Given the description of an element on the screen output the (x, y) to click on. 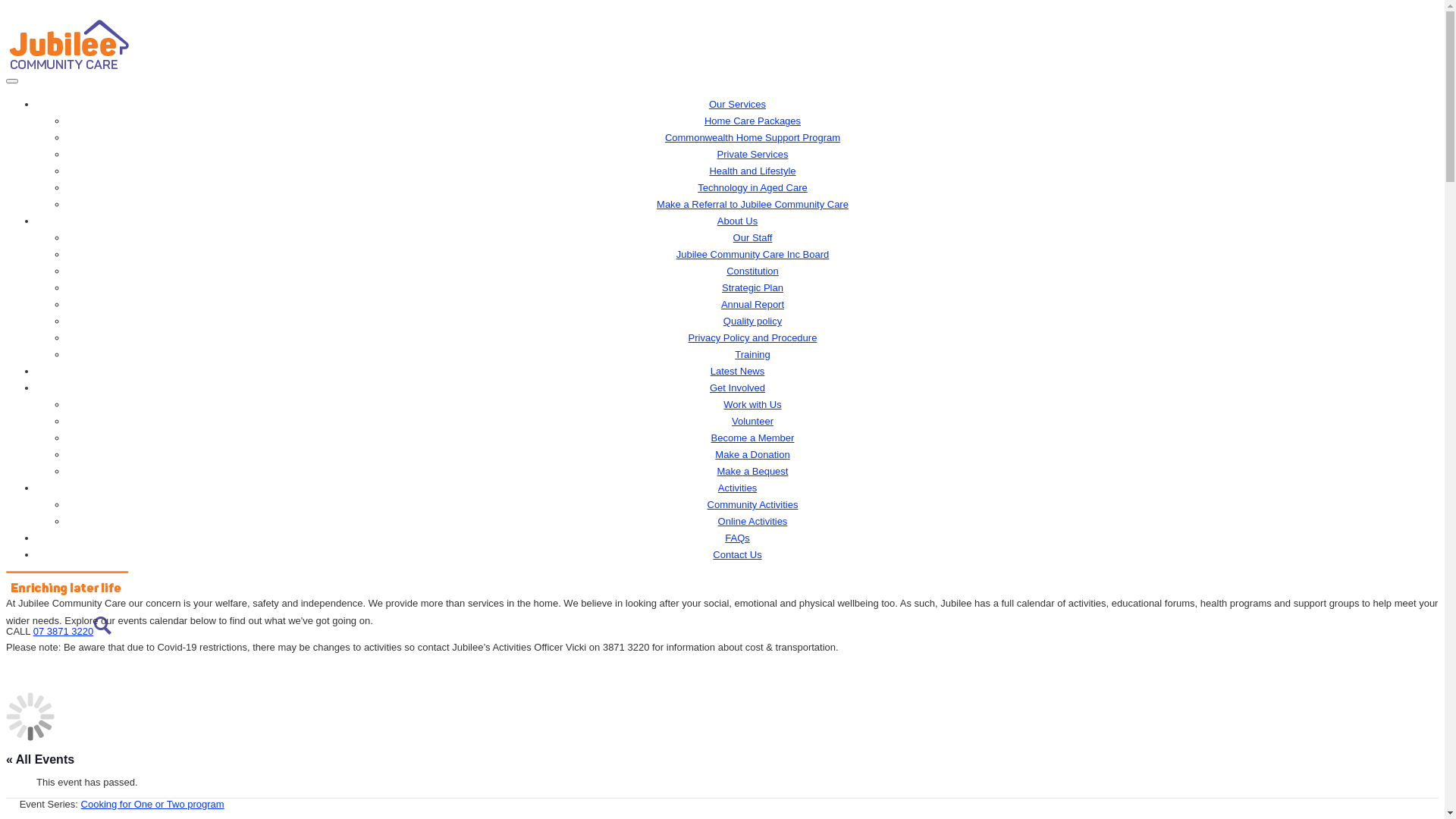
Make a Bequest Element type: text (752, 471)
Our Services Element type: text (737, 104)
Online Activities Element type: text (752, 521)
Commonwealth Home Support Program Element type: text (752, 137)
Latest News Element type: text (737, 371)
Health and Lifestyle Element type: text (752, 170)
Toggle navigation Element type: text (12, 80)
Annual Report Element type: text (752, 304)
Make a Donation Element type: text (751, 454)
Our Staff Element type: text (752, 237)
FAQs Element type: text (736, 538)
Constitution Element type: text (752, 270)
Get Involved Element type: text (737, 388)
Become a Member Element type: text (752, 437)
Cooking for One or Two program Element type: text (152, 803)
Privacy Policy and Procedure Element type: text (753, 337)
Community Activities Element type: text (752, 504)
Make a Referral to Jubilee Community Care Element type: text (752, 204)
Jubilee Community Care Inc Board Element type: text (752, 254)
About Us Element type: text (737, 221)
07 3871 3220 Element type: text (63, 631)
Technology in Aged Care Element type: text (752, 187)
Quality policy Element type: text (752, 320)
Strategic Plan Element type: text (752, 287)
Volunteer Element type: text (752, 421)
Work with Us Element type: text (751, 404)
Training Element type: text (752, 354)
Contact Us Element type: text (736, 554)
Private Services Element type: text (752, 154)
Home Care Packages Element type: text (752, 120)
Activities Element type: text (737, 488)
